Given the description of an element on the screen output the (x, y) to click on. 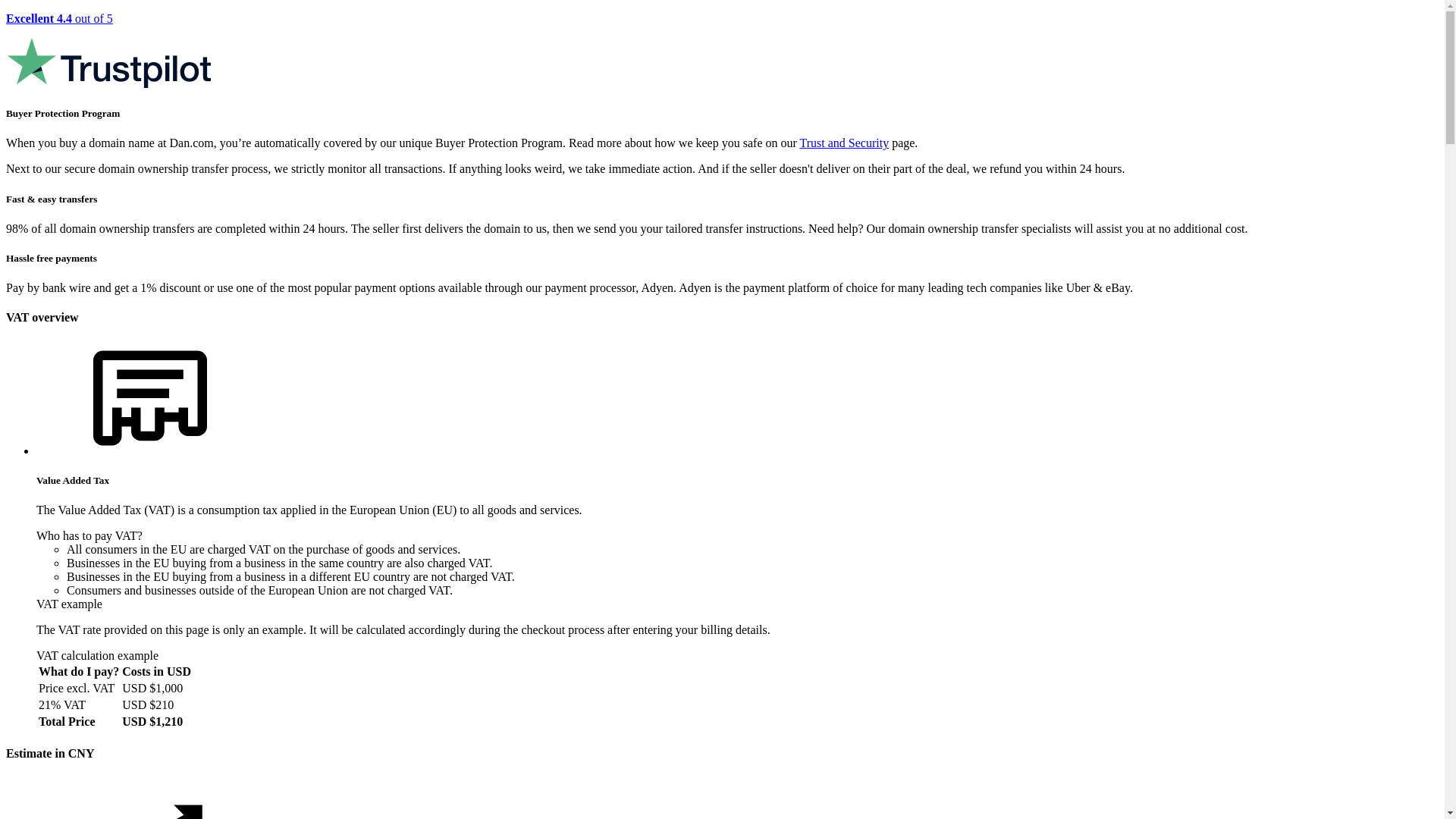
Excellent 4.4 out of 5 Element type: text (722, 51)
Trust and Security Element type: text (844, 142)
